Given the description of an element on the screen output the (x, y) to click on. 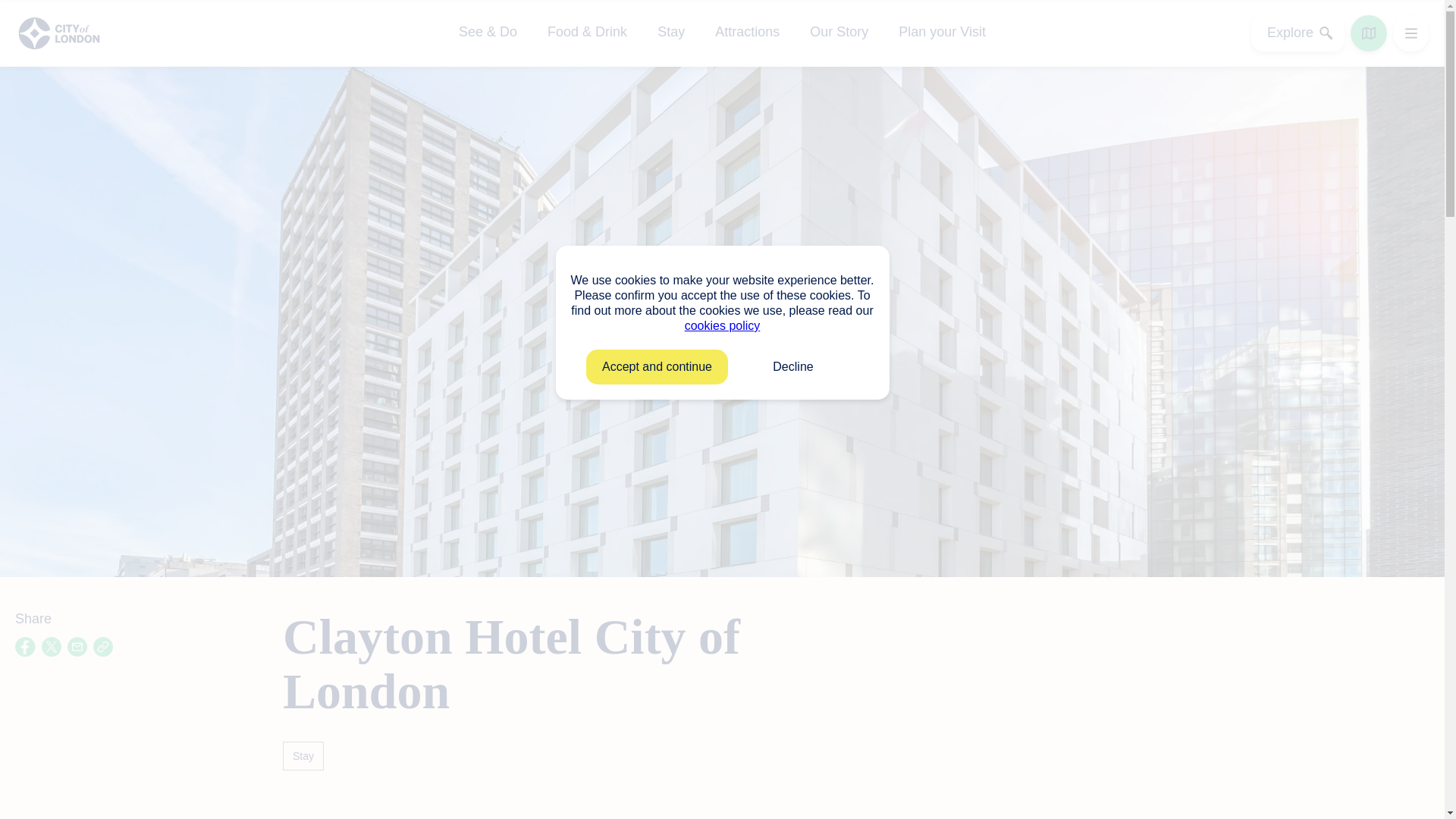
Attractions (746, 31)
Stay (303, 756)
cookies policy (722, 325)
Plan your Visit (941, 31)
Stay (671, 31)
Our Story (838, 31)
